Given the description of an element on the screen output the (x, y) to click on. 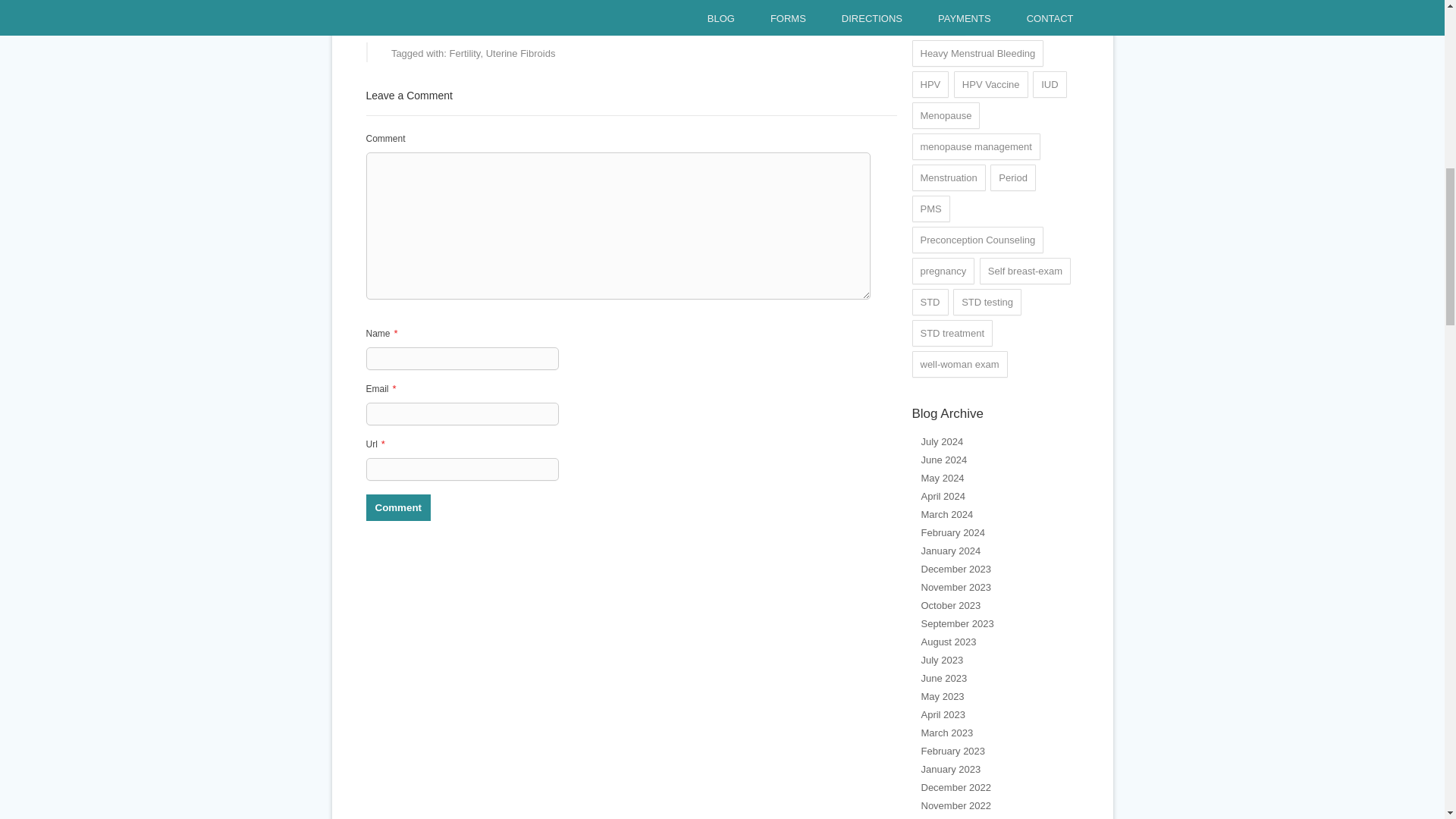
Comment (397, 507)
